Given the description of an element on the screen output the (x, y) to click on. 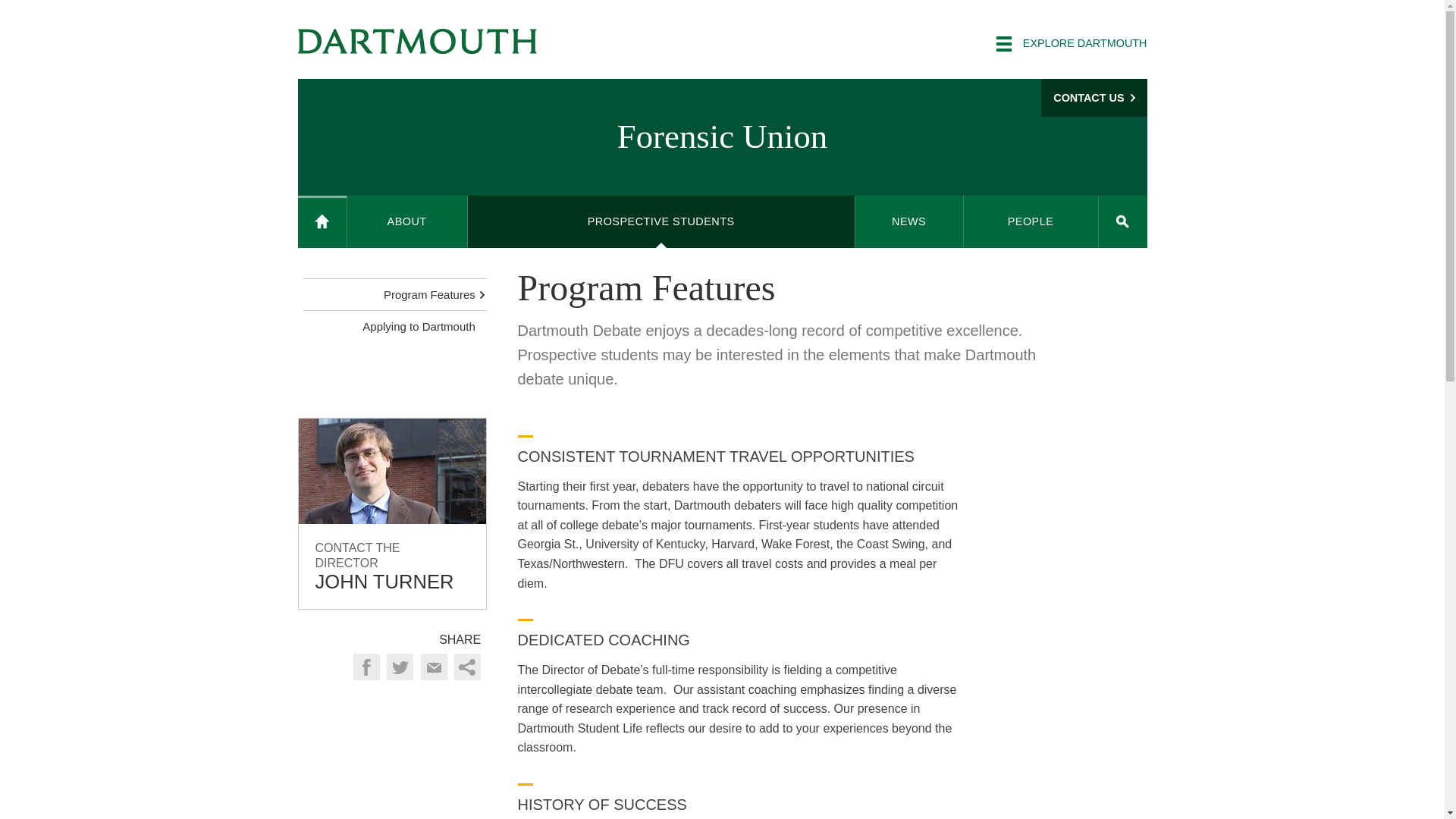
PEOPLE (1030, 221)
Dartmouth College (417, 41)
NEWS (909, 221)
EXPLORE DARTMOUTH (1071, 43)
ABOUT (407, 221)
John Turner (392, 513)
Home (321, 221)
